Given the description of an element on the screen output the (x, y) to click on. 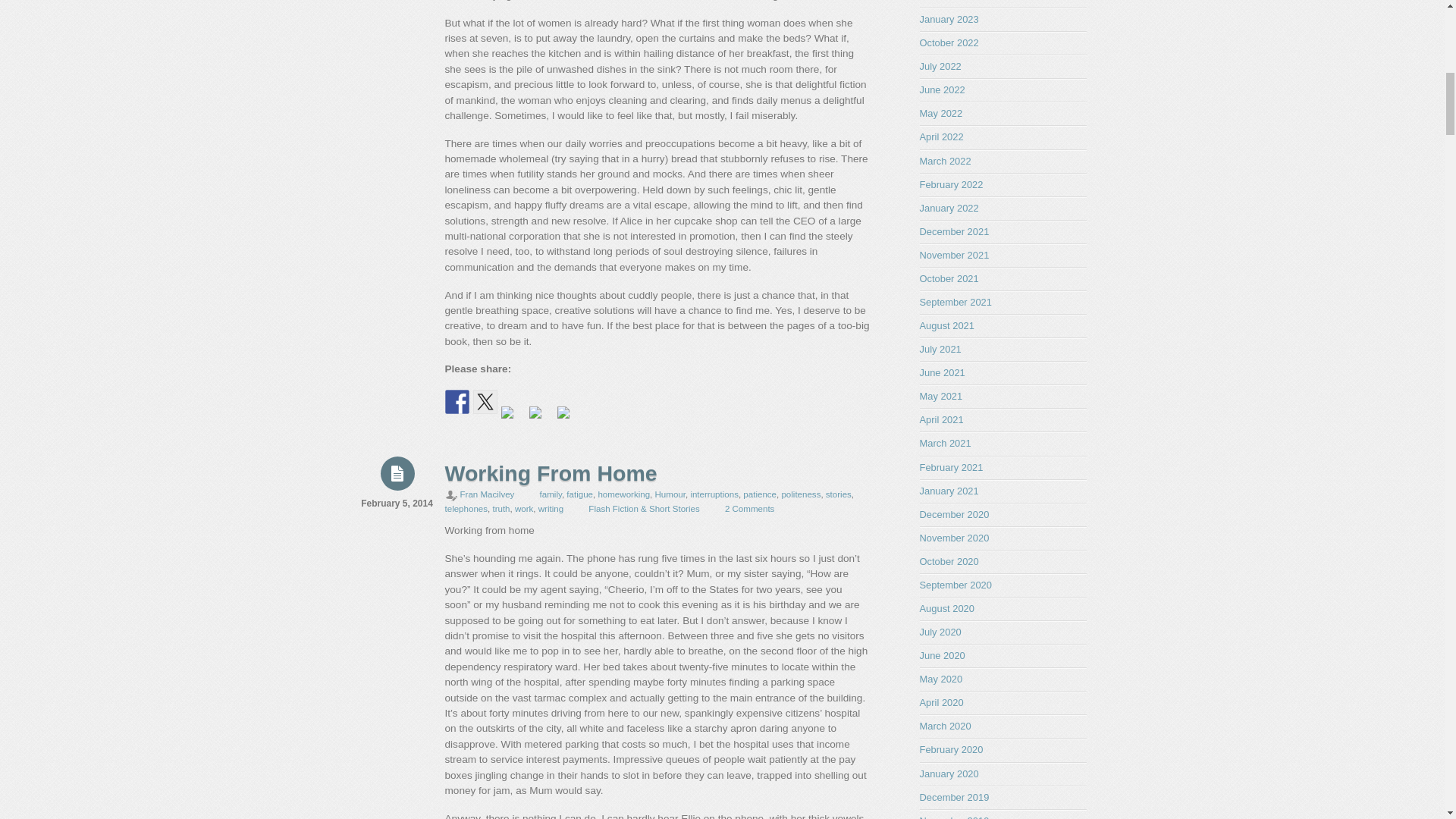
family (551, 493)
fatigue (579, 493)
Working From Home (550, 473)
Share on Linkedin (541, 418)
homeworking (622, 493)
Share on Facebook (456, 401)
Share on Twitter (485, 401)
Share on tumblr (568, 418)
Fran Macilvey (486, 493)
Pin it with Pinterest (512, 418)
